Given the description of an element on the screen output the (x, y) to click on. 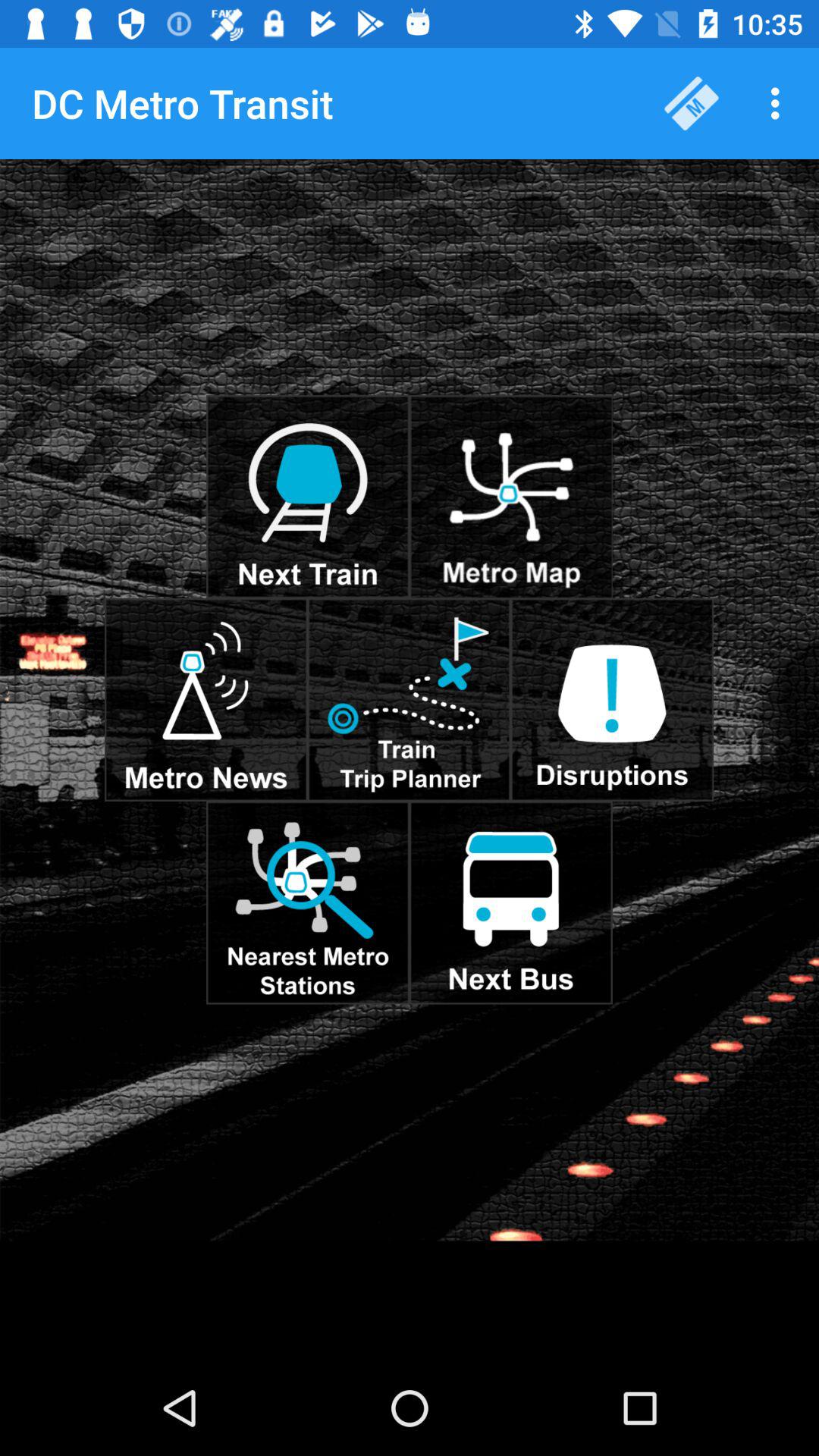
show disruptions (611, 699)
